Given the description of an element on the screen output the (x, y) to click on. 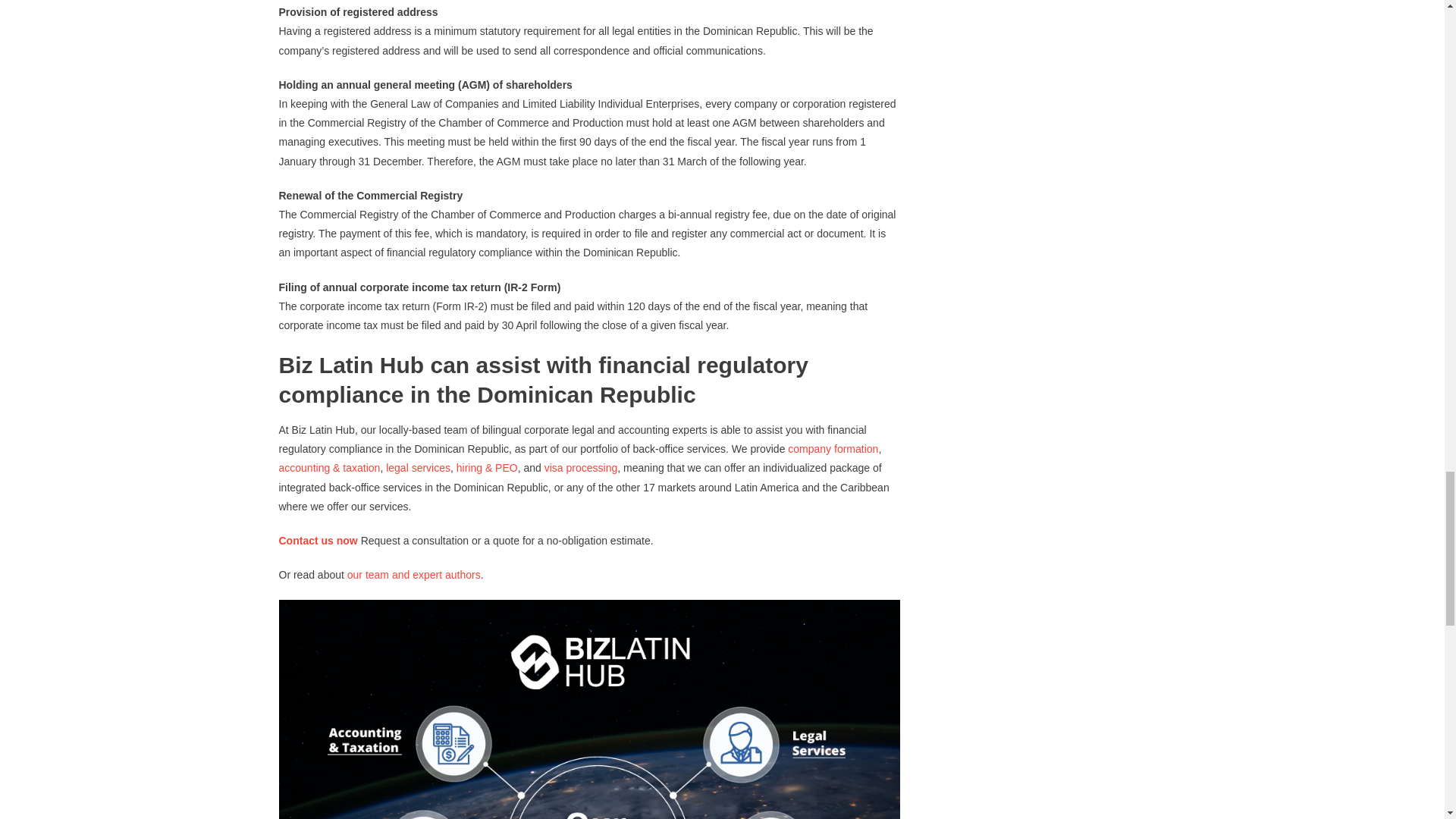
Contact (298, 540)
legal services (417, 467)
our team and expert authors (413, 574)
us now (339, 540)
visa processing (580, 467)
company formation (832, 449)
